Given the description of an element on the screen output the (x, y) to click on. 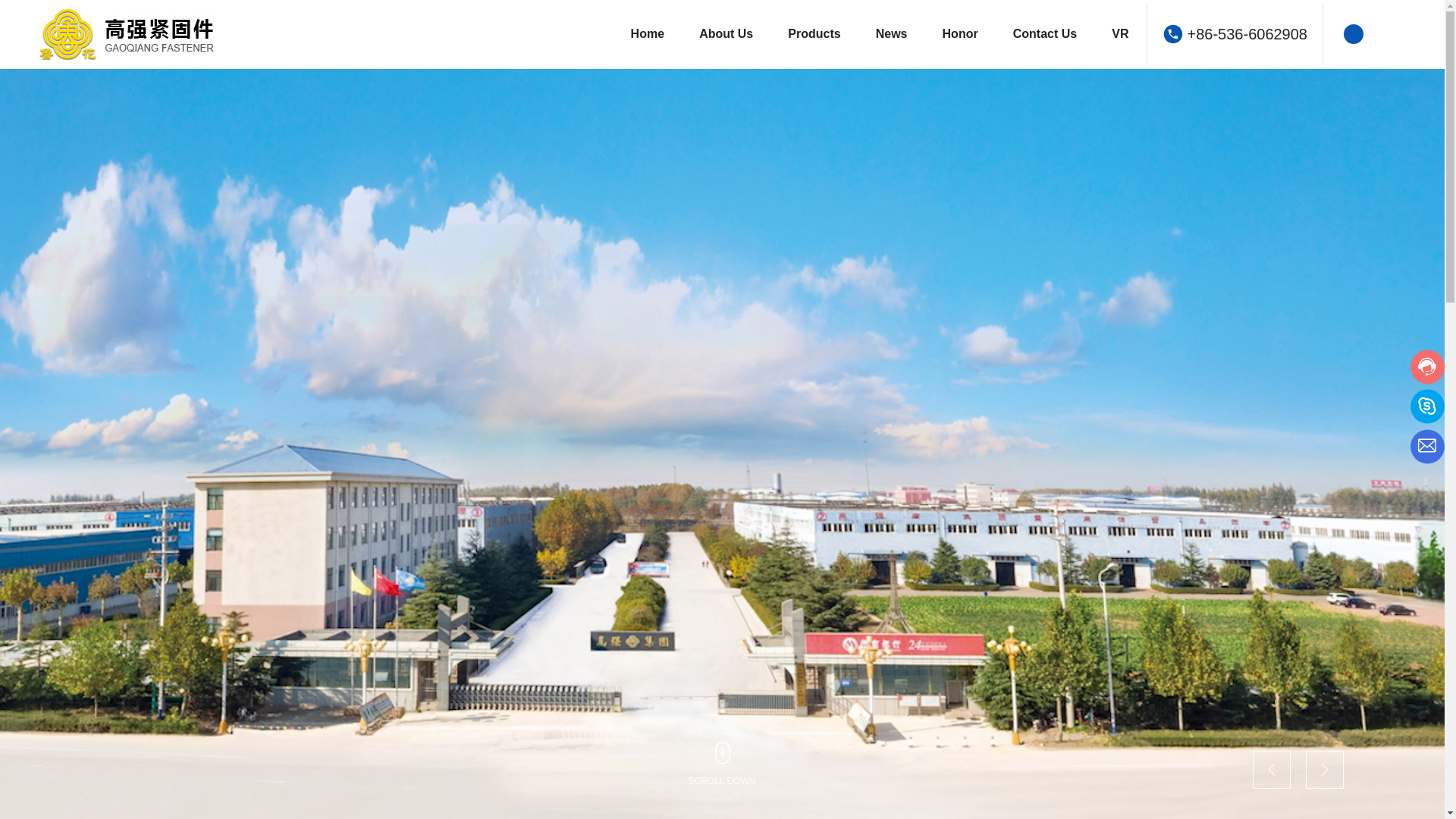
News Element type: text (891, 34)
VR Element type: text (1119, 34)
Honor Element type: text (960, 34)
+86-536-6062908 Element type: text (1247, 33)
About Us Element type: text (725, 34)
	Shandong Gaoqiang Fastener Co. LTD Element type: hover (151, 33)
Home Element type: text (647, 34)
Contact Us Element type: text (1045, 34)
Products Element type: text (813, 34)
